Given the description of an element on the screen output the (x, y) to click on. 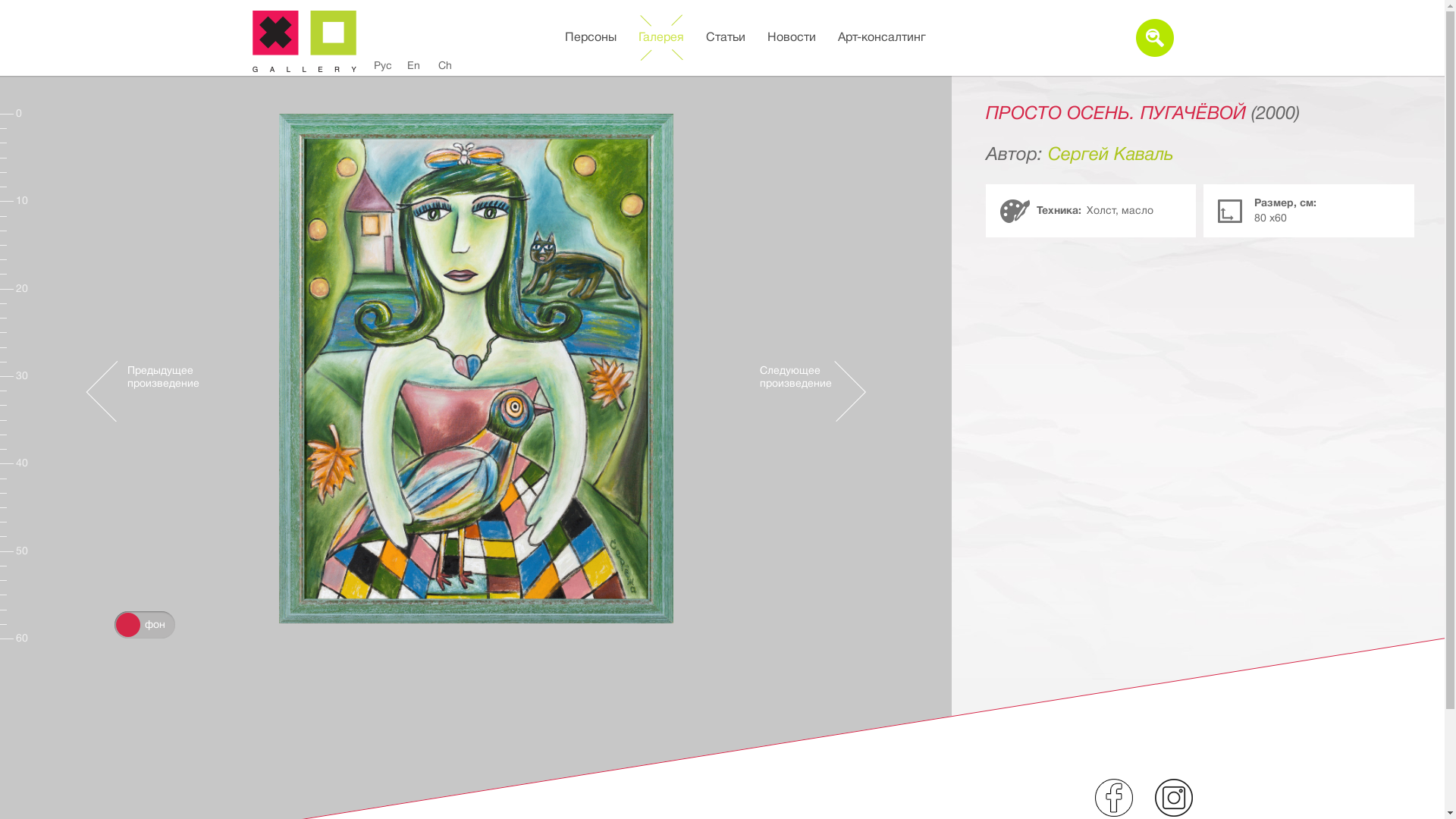
Ch Element type: text (445, 65)
INSTAGRAM Element type: hover (1173, 797)
En Element type: text (413, 65)
FACEBOOK Element type: hover (1113, 797)
